Given the description of an element on the screen output the (x, y) to click on. 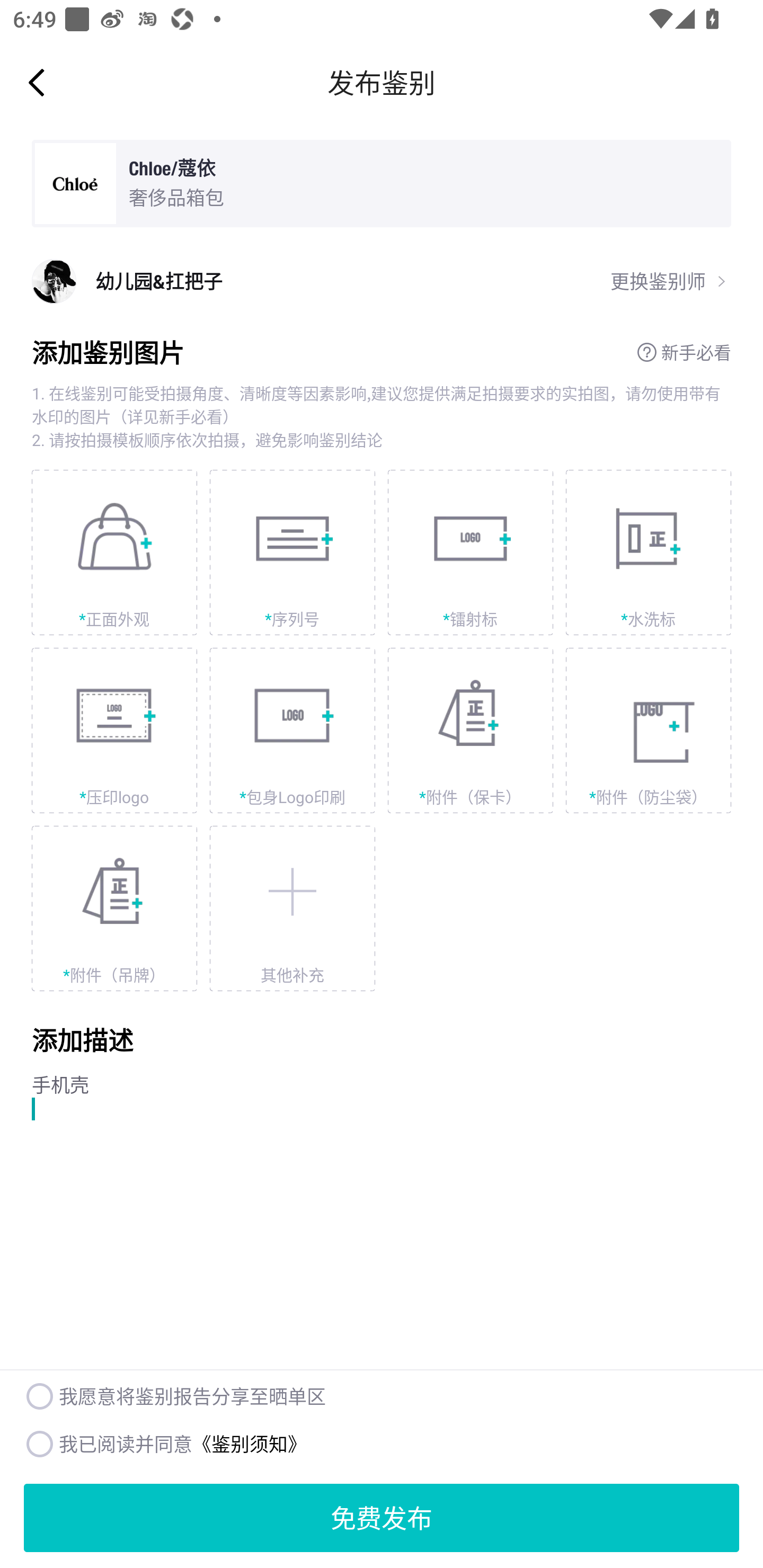
Navigate up (36, 82)
幼儿园&扛把子 更换鉴别师 (381, 281)
新手必看 (683, 351)
* 正面外观 (114, 552)
* 序列号 (292, 552)
* 镭射标 (470, 552)
* 水洗标 (648, 552)
* 压印logo (114, 730)
* 包身Logo印刷 (292, 730)
* 附件（保卡） (470, 730)
* 附件（防尘袋） (648, 730)
* 附件（吊牌） (114, 908)
其他补充 (292, 908)
手机壳
 (381, 1148)
《鉴别须知》 (249, 1443)
免费发布 (381, 1517)
